Given the description of an element on the screen output the (x, y) to click on. 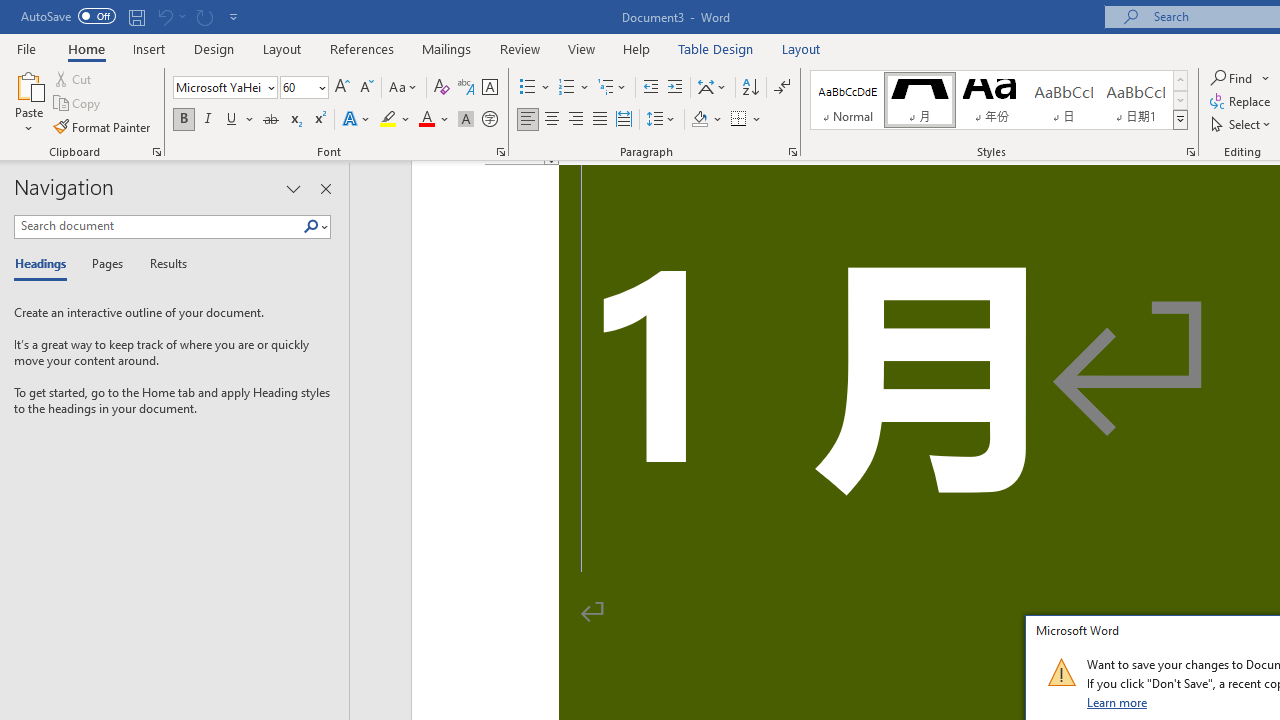
Font (218, 87)
Insert (149, 48)
Italic (207, 119)
Format Painter (103, 126)
Asian Layout (712, 87)
References (362, 48)
AutomationID: QuickStylesGallery (999, 99)
Bullets (535, 87)
Decrease Indent (650, 87)
Find (1233, 78)
Review (520, 48)
Font Color RGB(255, 0, 0) (426, 119)
